Given the description of an element on the screen output the (x, y) to click on. 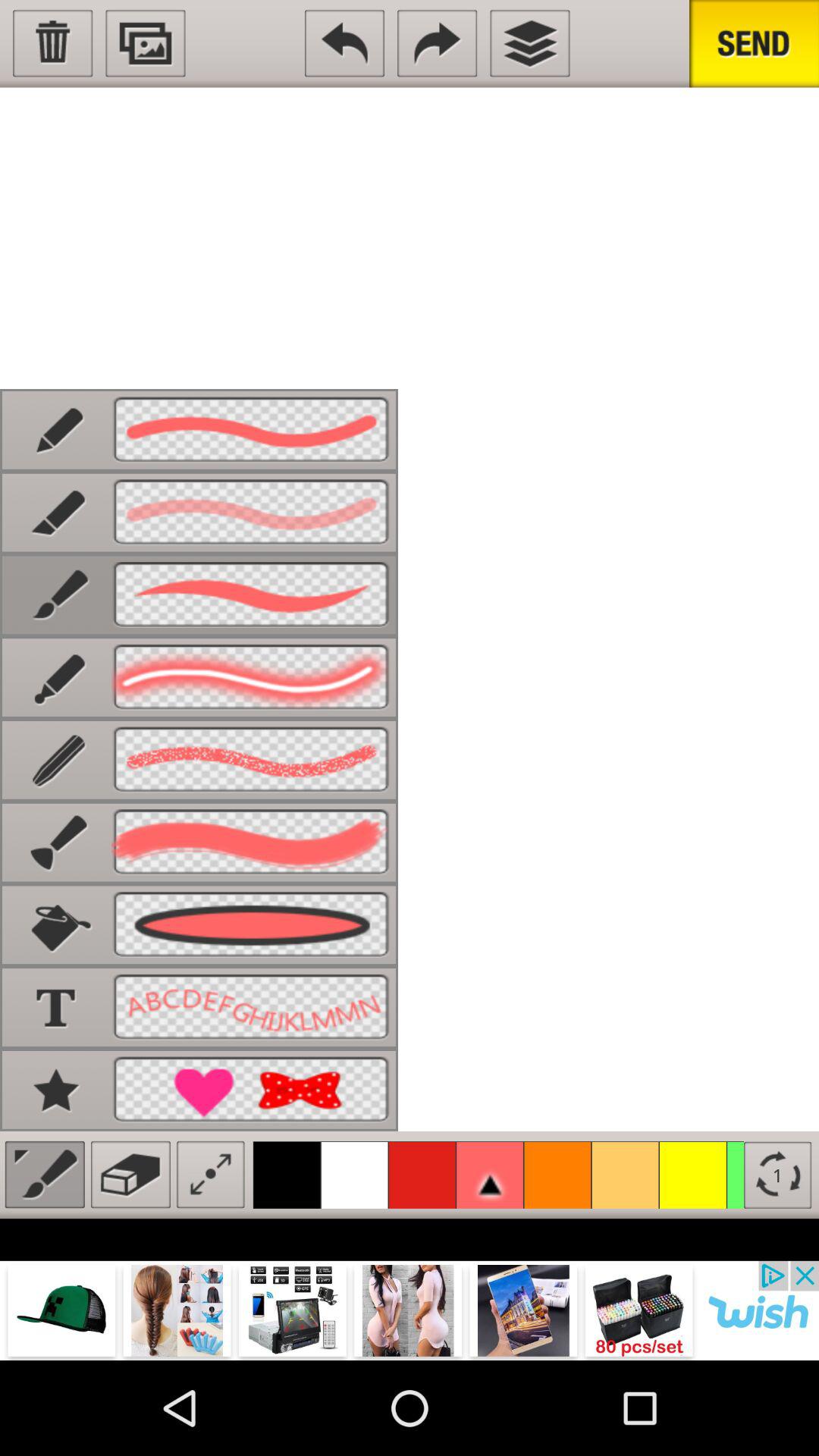
tool options (44, 1174)
